Given the description of an element on the screen output the (x, y) to click on. 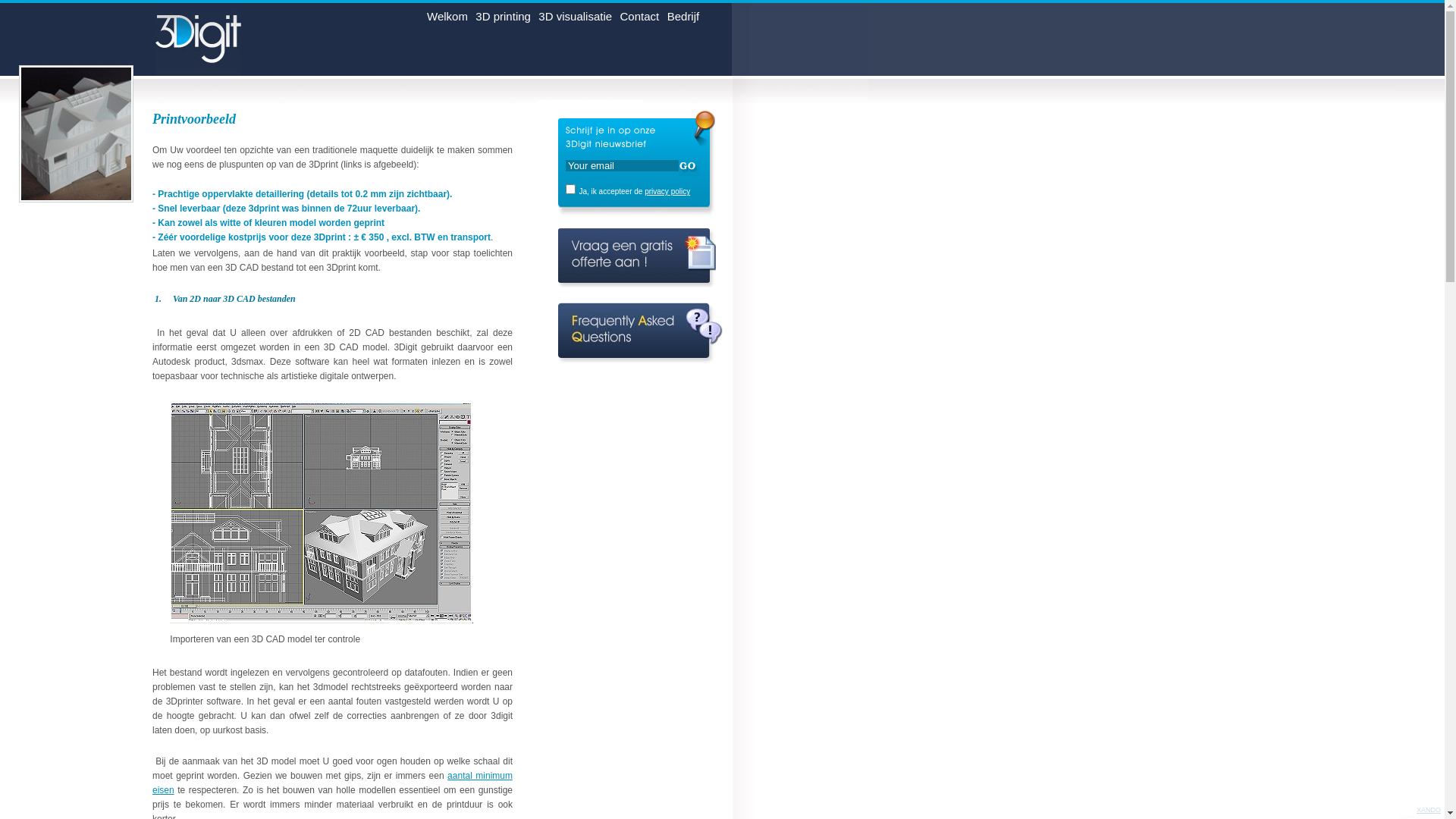
Printvoorbeeld Element type: hover (75, 133)
FAQ Element type: text (640, 340)
Welkom Element type: text (447, 18)
schrijf u in Element type: hover (688, 166)
3D visualisatie Element type: text (575, 18)
Bedrijf Element type: text (683, 18)
Contact Element type: text (640, 18)
vraag een gratis offerte aan of bestel direct! Element type: text (636, 265)
3D printing Element type: text (503, 18)
XANDO Element type: text (1428, 809)
aantal minimum eisen Element type: text (332, 782)
3Digit 3d printing service Element type: text (210, 39)
privacy policy Element type: text (667, 191)
